Given the description of an element on the screen output the (x, y) to click on. 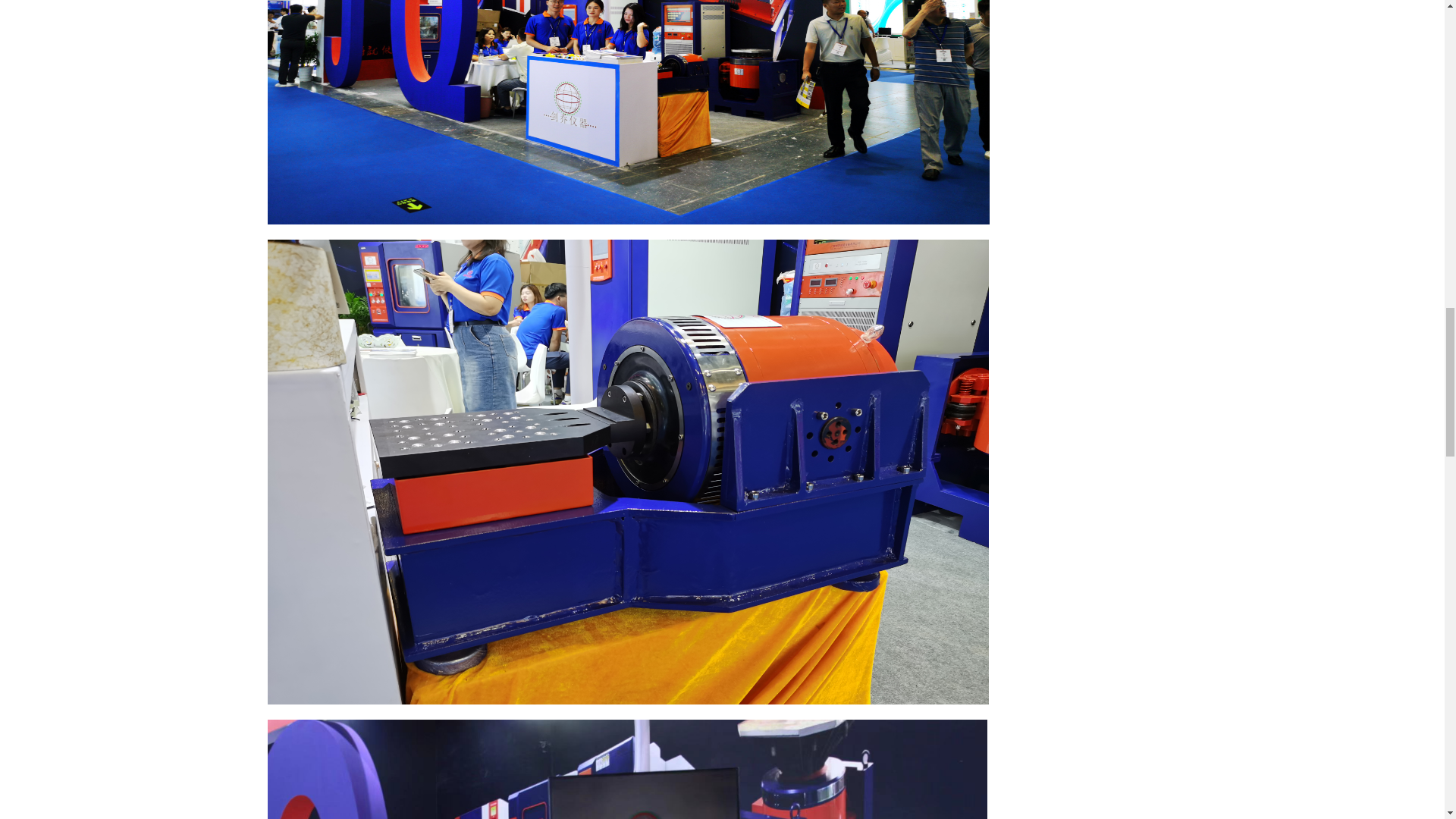
1692621511439034.jpg (626, 769)
